Given the description of an element on the screen output the (x, y) to click on. 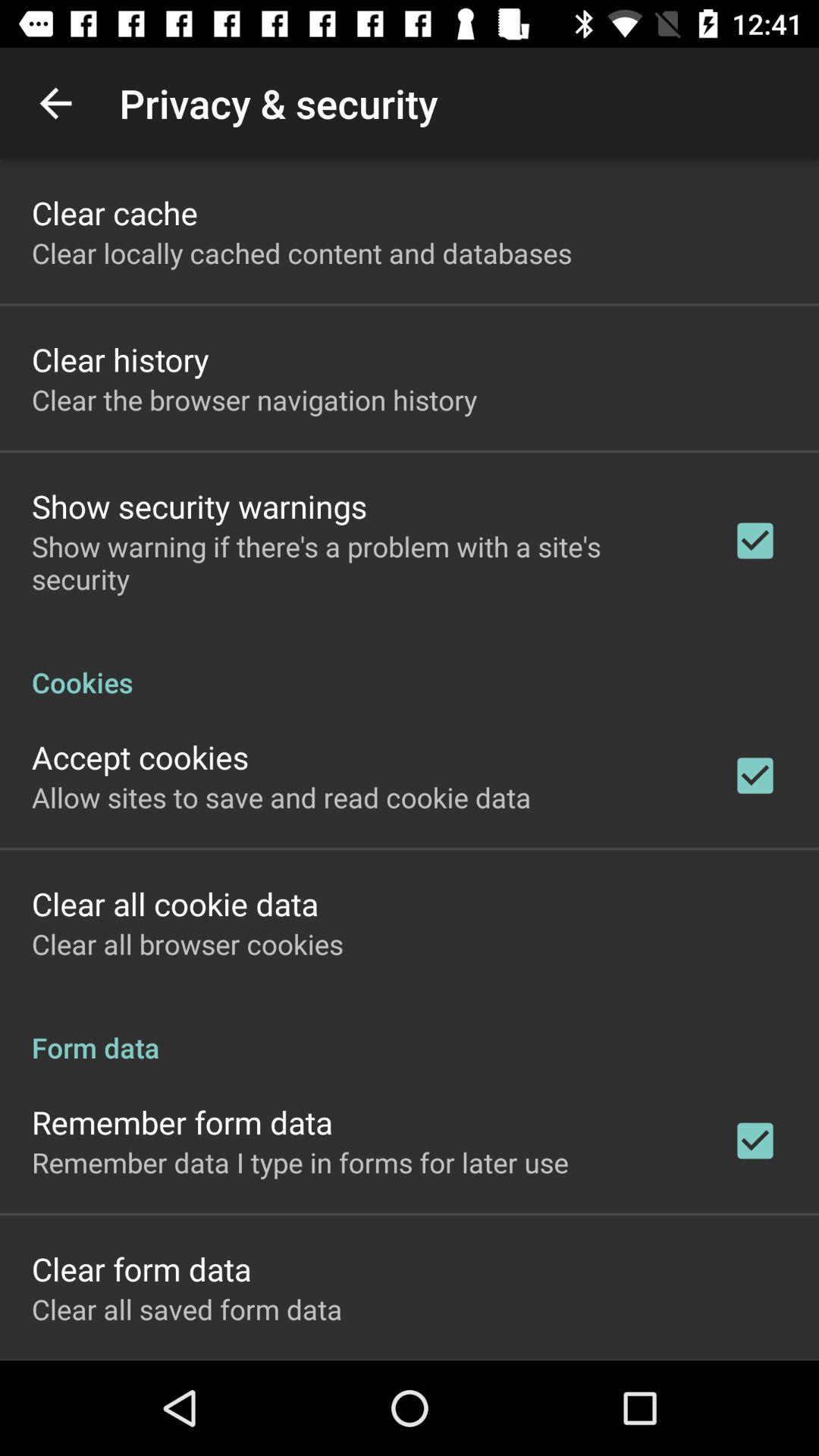
choose app above the clear all cookie icon (281, 797)
